Given the description of an element on the screen output the (x, y) to click on. 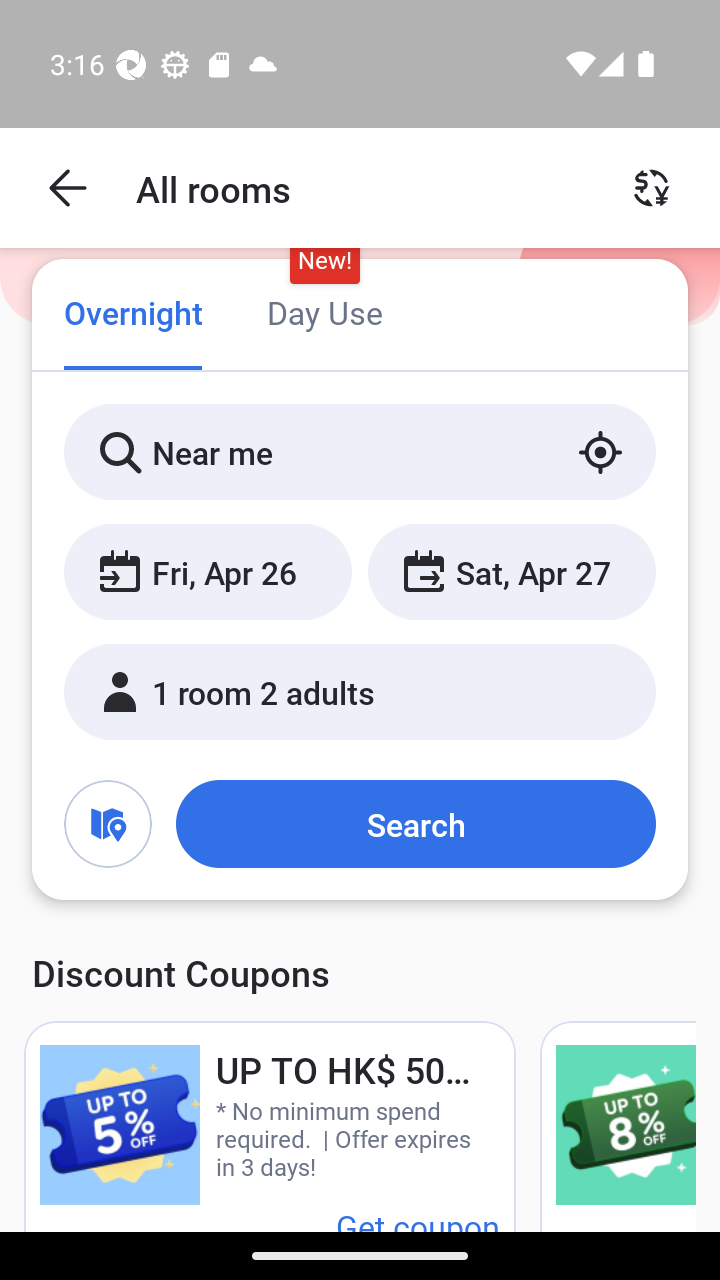
Day Use (324, 312)
Near me (359, 452)
Fri, Apr 26 (208, 571)
Sat, Apr 27 (511, 571)
1 room 2 adults (359, 691)
Search (415, 823)
